Given the description of an element on the screen output the (x, y) to click on. 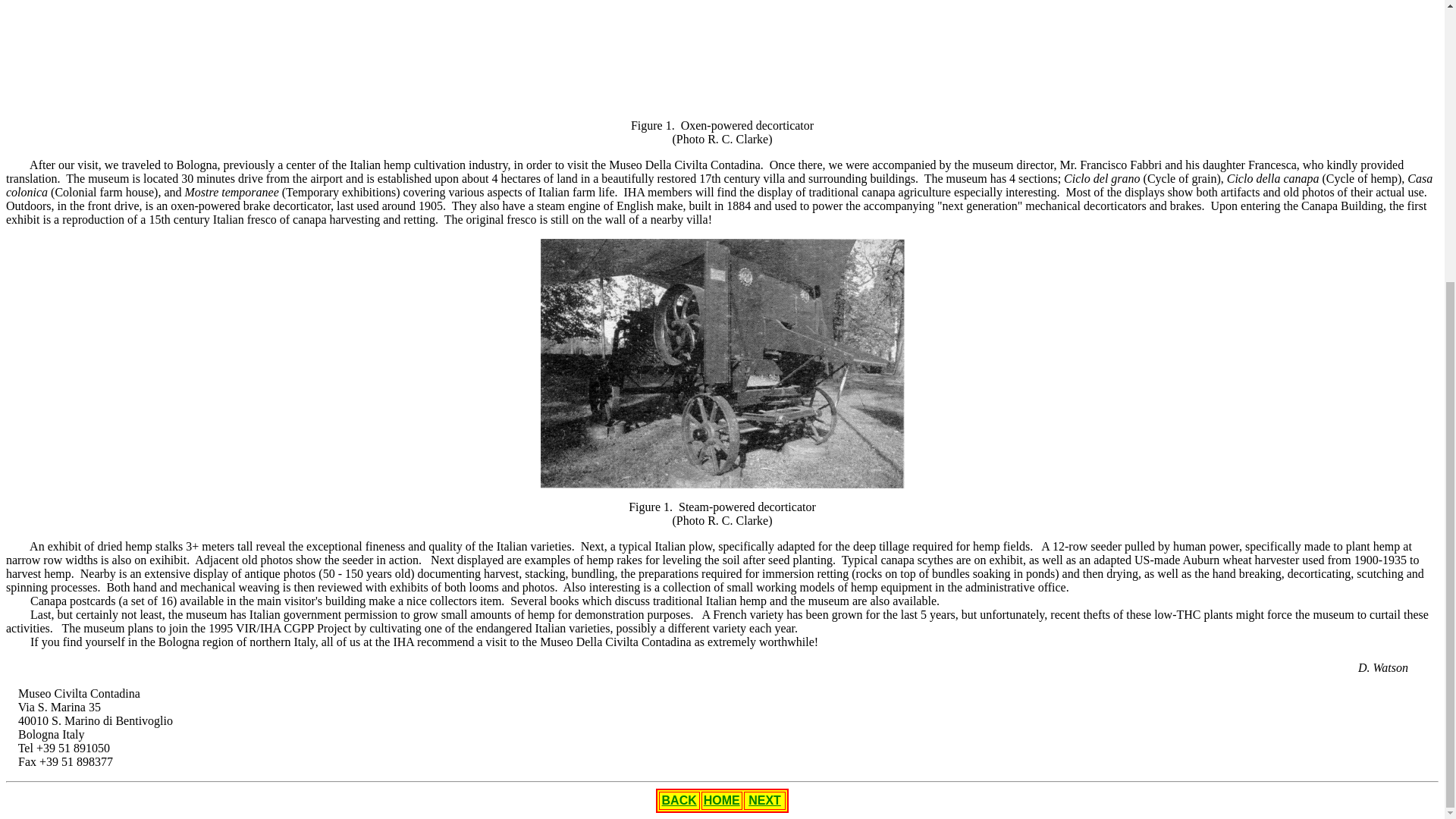
NEXT (764, 799)
BACK (679, 799)
HOME (721, 799)
